Given the description of an element on the screen output the (x, y) to click on. 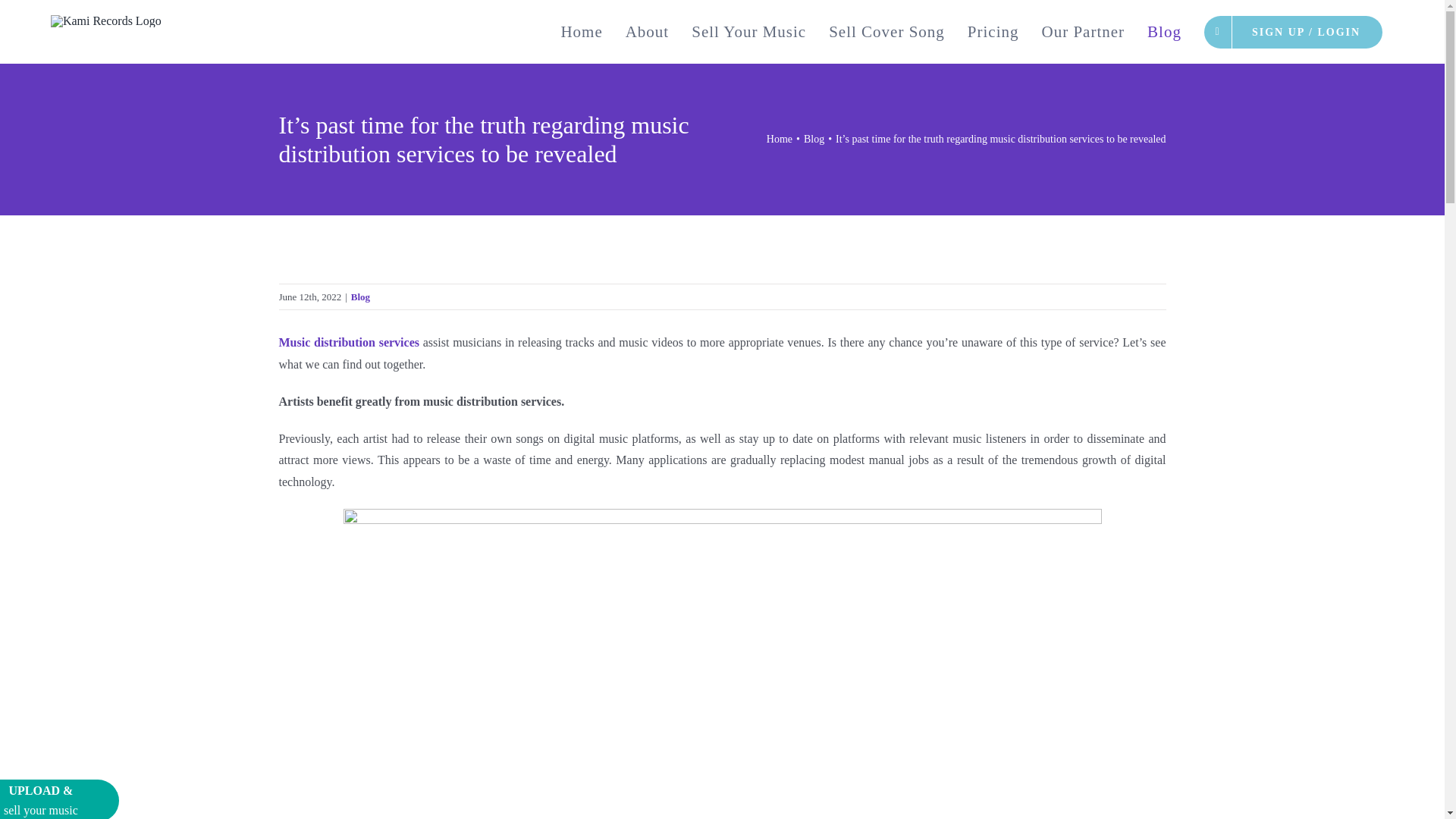
Our Partner (1082, 31)
Home (580, 31)
Blog (1163, 31)
Blog (359, 296)
Blog (813, 138)
About (647, 31)
Home (779, 138)
Sell Your Music (747, 31)
Pricing (993, 31)
Music distribution services (349, 341)
Sell Cover Song (886, 31)
